Given the description of an element on the screen output the (x, y) to click on. 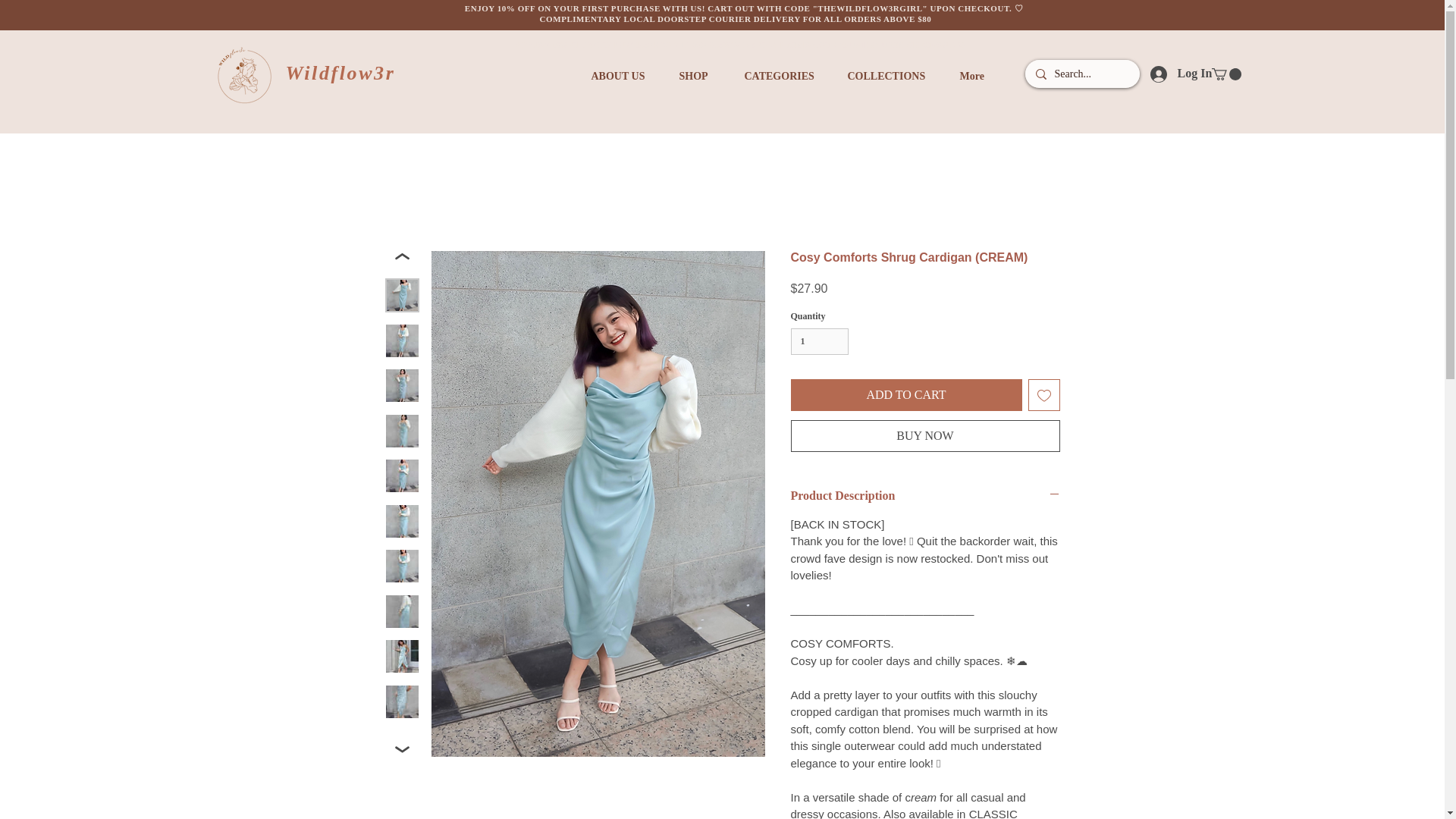
Wildflow3r (339, 72)
1 (818, 341)
